Given the description of an element on the screen output the (x, y) to click on. 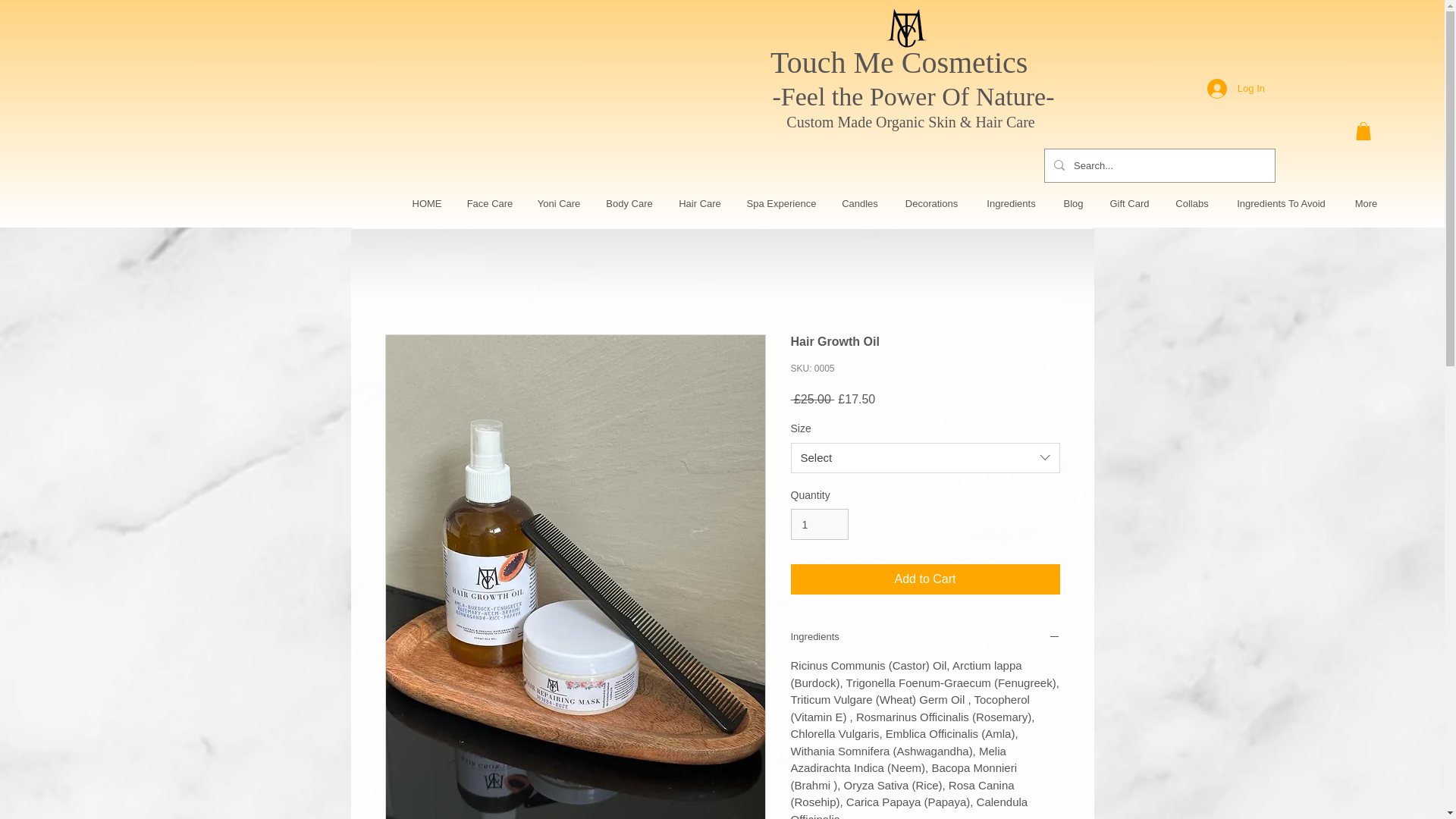
Candles (859, 203)
Body Care (628, 203)
Collabs (1191, 203)
Face Care (489, 203)
Ingredients To Avoid (1280, 203)
Ingredients (1010, 203)
Add to Cart (924, 579)
HOME (426, 203)
Log In (1235, 88)
Decorations (931, 203)
